Given the description of an element on the screen output the (x, y) to click on. 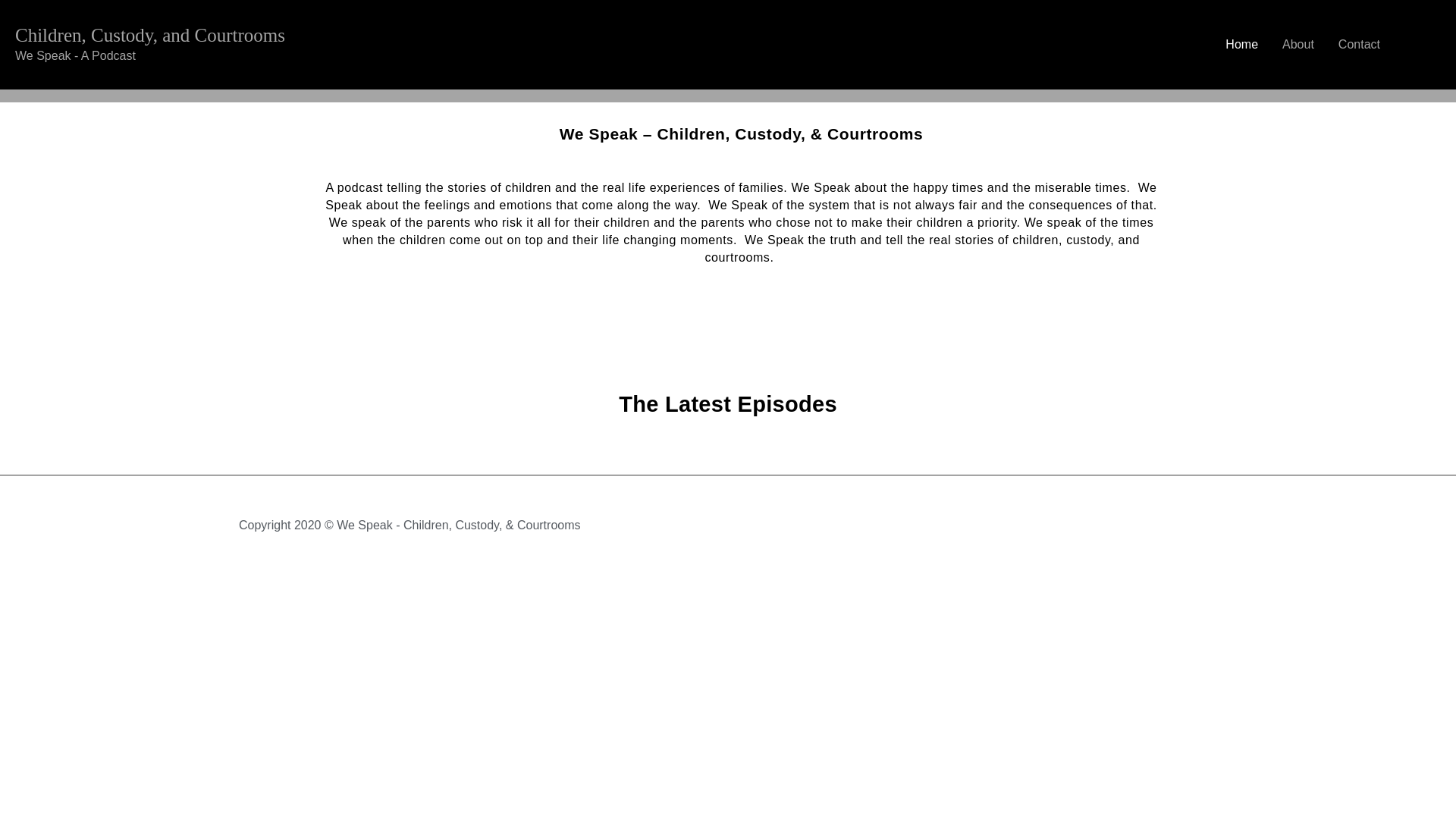
Children, Custody, and Courtrooms (149, 35)
Home (1240, 44)
Contact (1358, 44)
About (1297, 44)
